Given the description of an element on the screen output the (x, y) to click on. 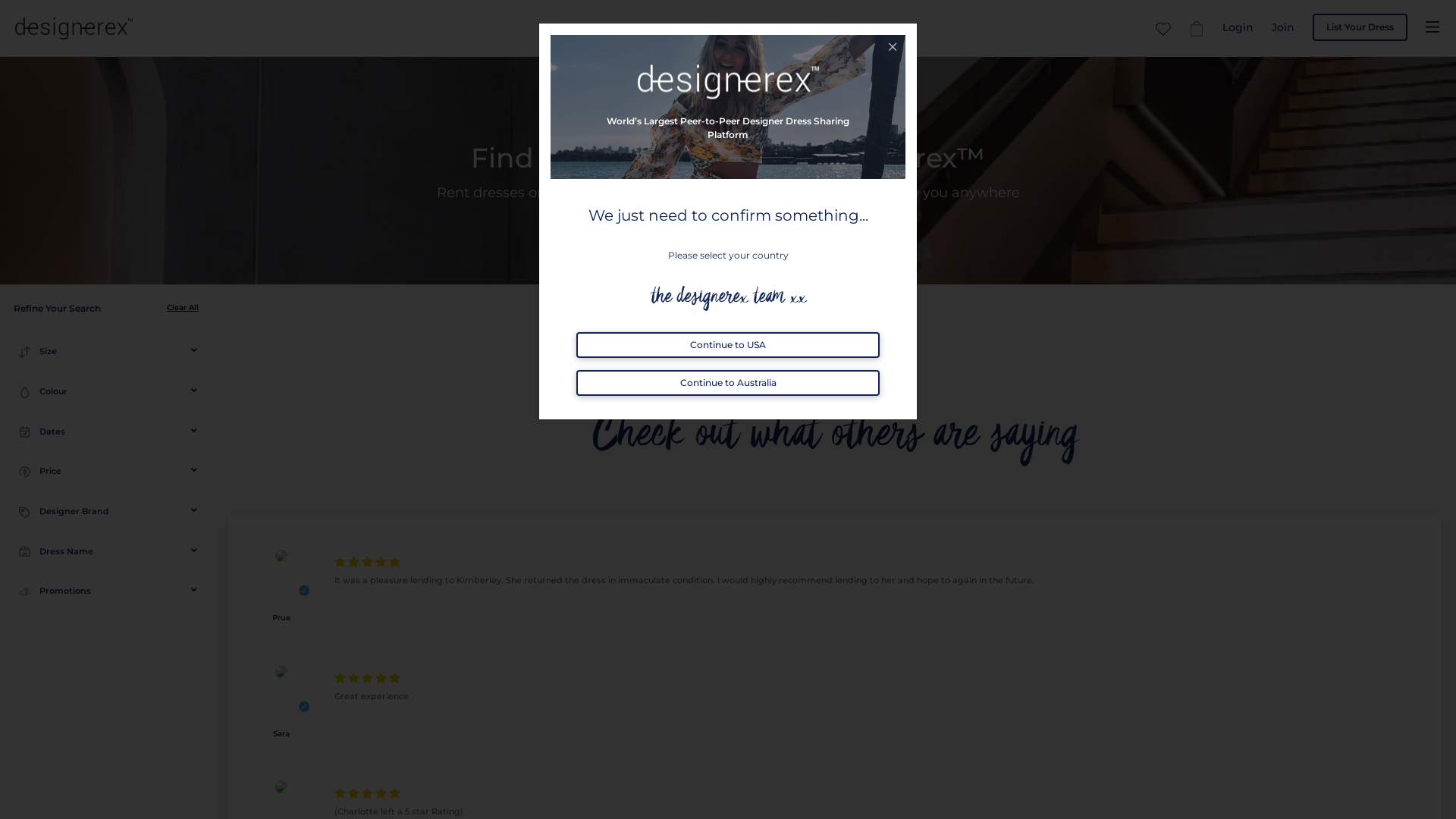
Join Element type: text (1282, 26)
Continue to Australia Element type: text (727, 382)
Clear All Element type: text (182, 307)
List Your Dress Element type: text (1359, 26)
Continue to USA Element type: text (727, 344)
Login Element type: text (1237, 26)
